Given the description of an element on the screen output the (x, y) to click on. 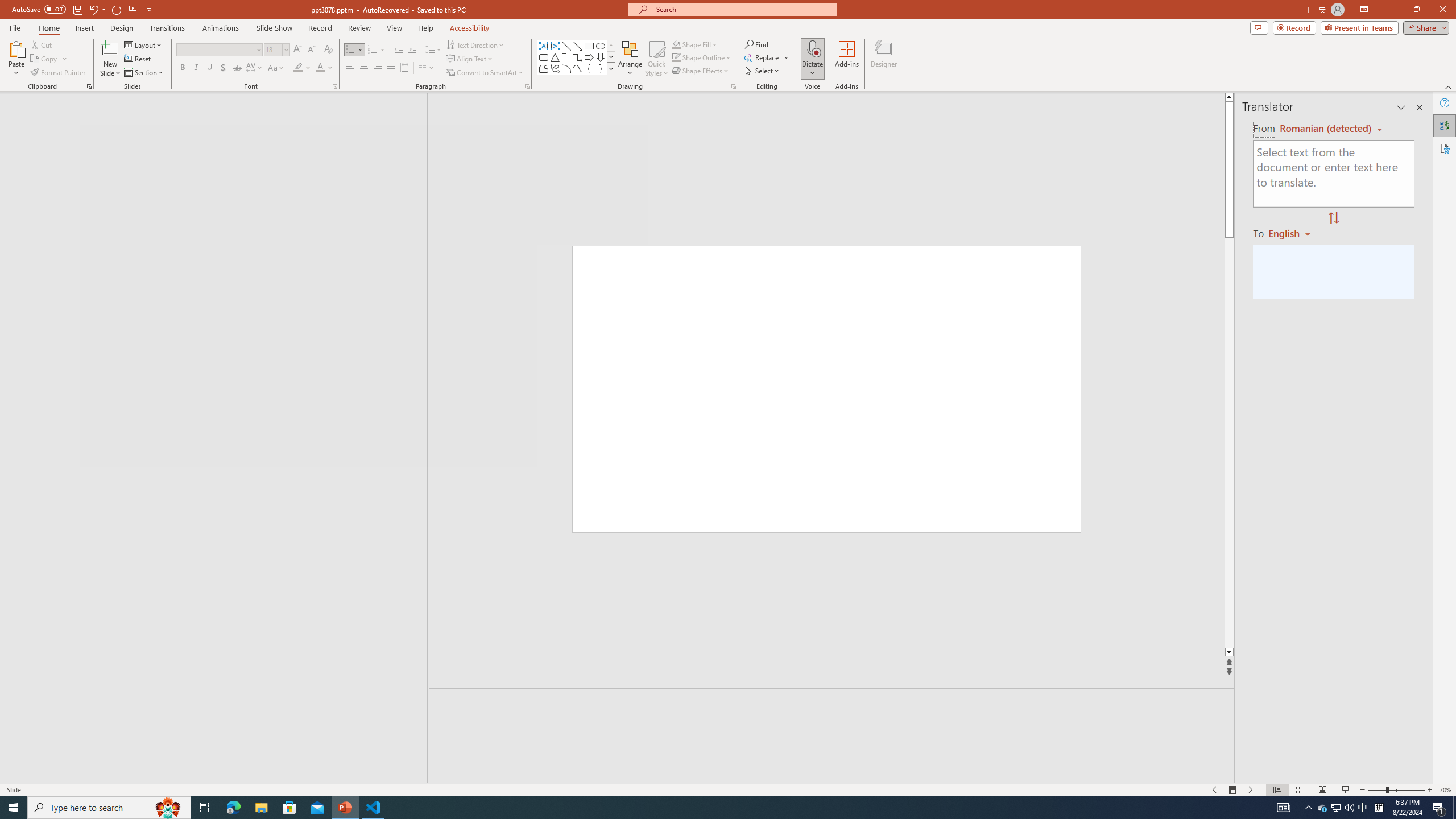
Slide Show Next On (1250, 790)
